Given the description of an element on the screen output the (x, y) to click on. 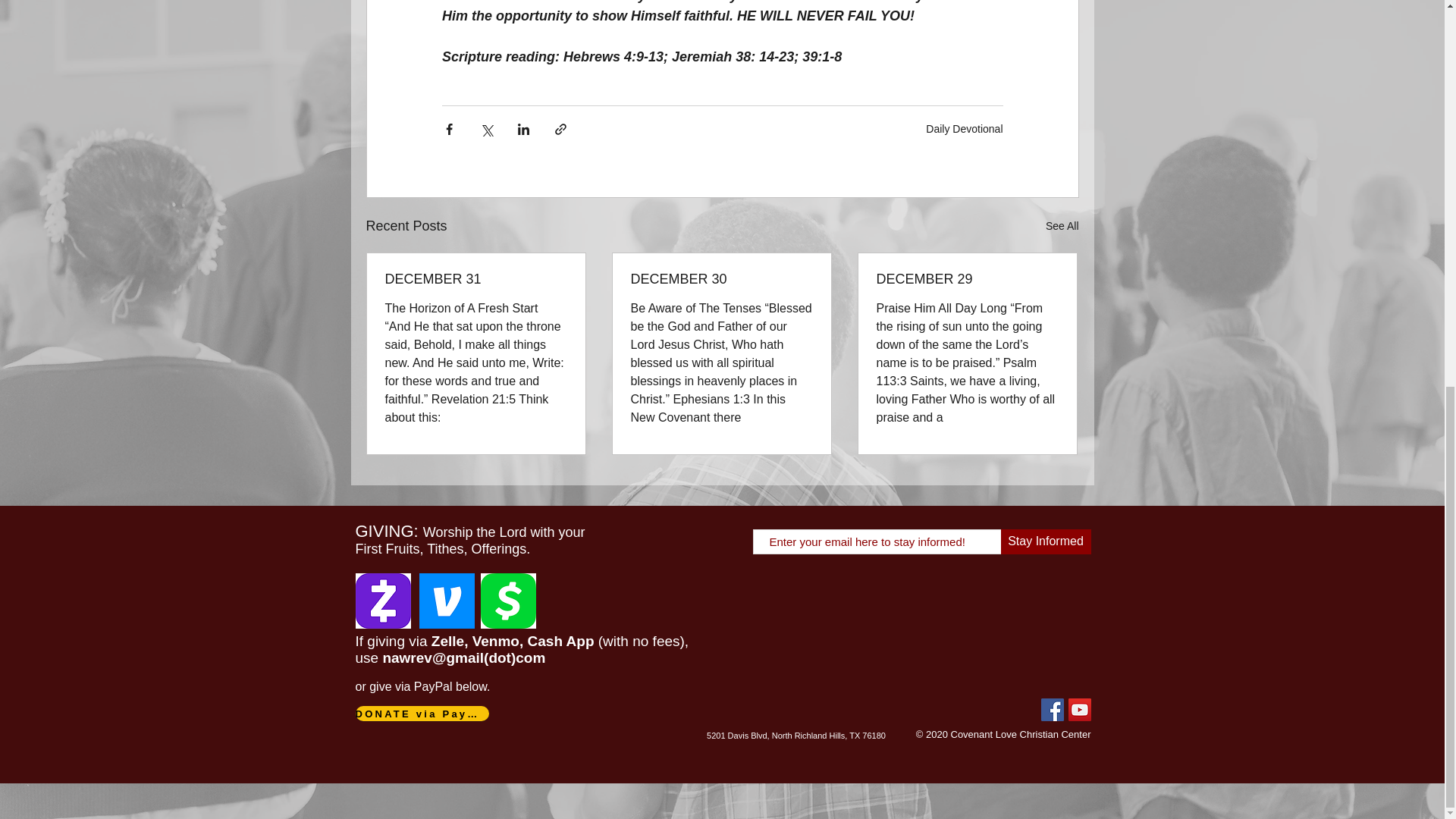
DECEMBER 31 (476, 279)
Unknown-4.png (382, 600)
DONATE via PayPal (421, 713)
DECEMBER 29 (967, 279)
See All (1061, 226)
Daily Devotional (964, 128)
Unknown.png (446, 600)
DECEMBER 30 (721, 279)
Stay Informed (1045, 541)
Unknown-3.png (507, 600)
